Given the description of an element on the screen output the (x, y) to click on. 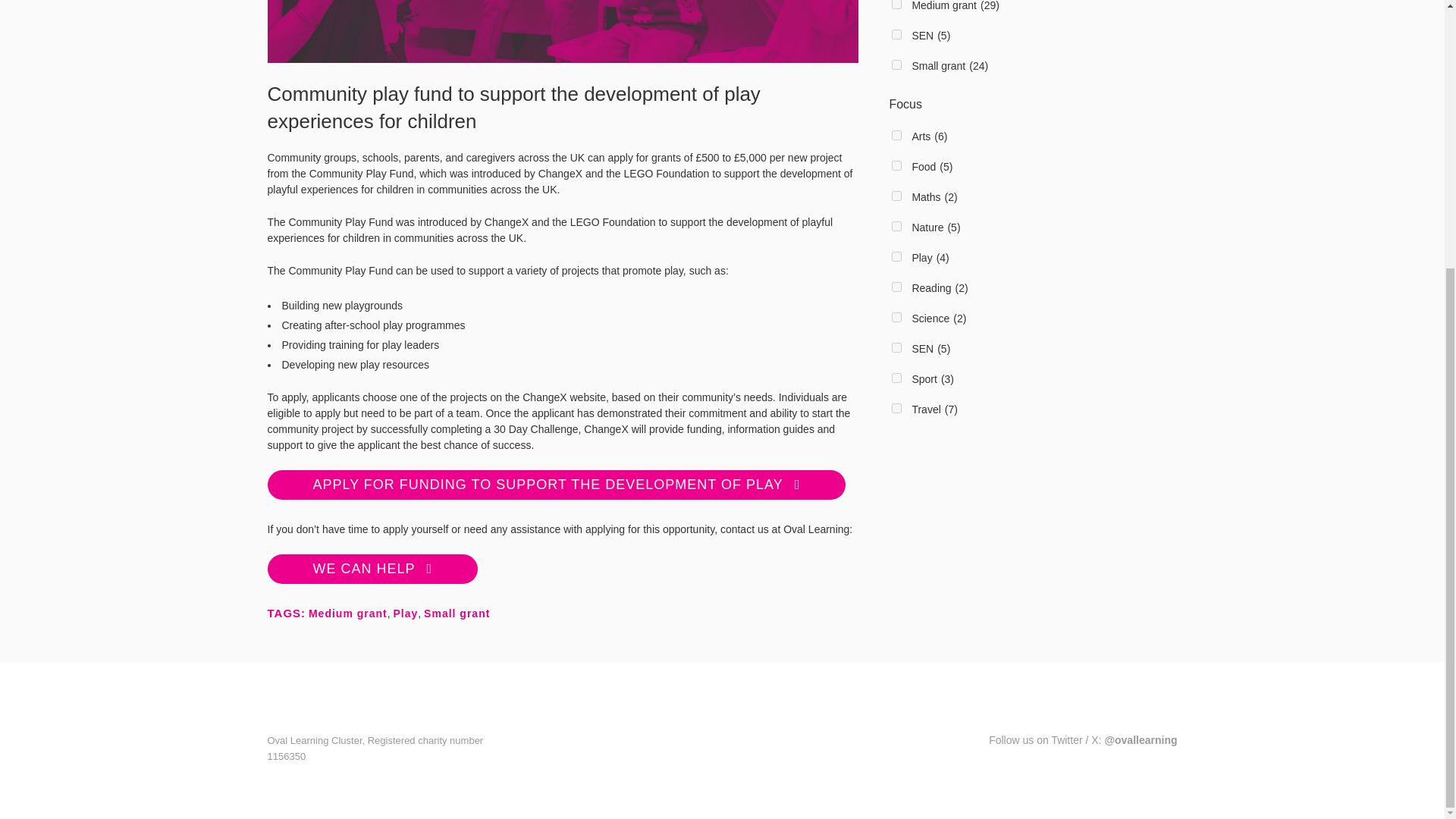
reading (896, 286)
travel (896, 408)
Medium grant (347, 613)
nature (896, 225)
Play (406, 613)
medium-grant (896, 4)
science (896, 317)
small-grant (896, 64)
Small grant (456, 613)
sport (896, 378)
